Given the description of an element on the screen output the (x, y) to click on. 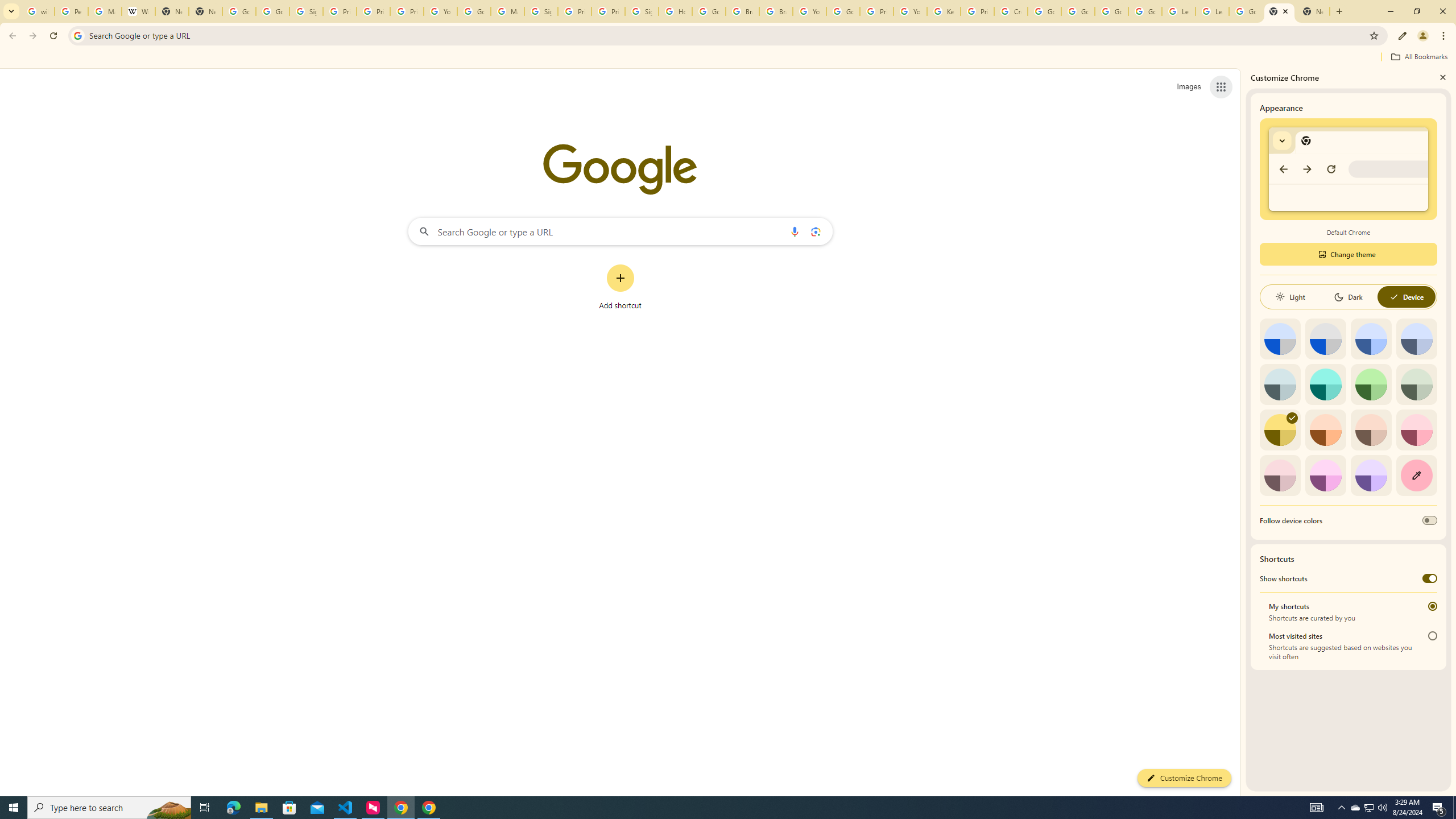
Change theme (1348, 254)
Search Google or type a URL (619, 230)
Show shortcuts (1429, 578)
Violet (1371, 475)
All Bookmarks (1418, 56)
Default color (1279, 338)
New Tab (1313, 11)
AutomationID: baseSvg (1394, 296)
Custom color (1416, 475)
New Tab (1279, 11)
Viridian (1416, 383)
YouTube (909, 11)
